Given the description of an element on the screen output the (x, y) to click on. 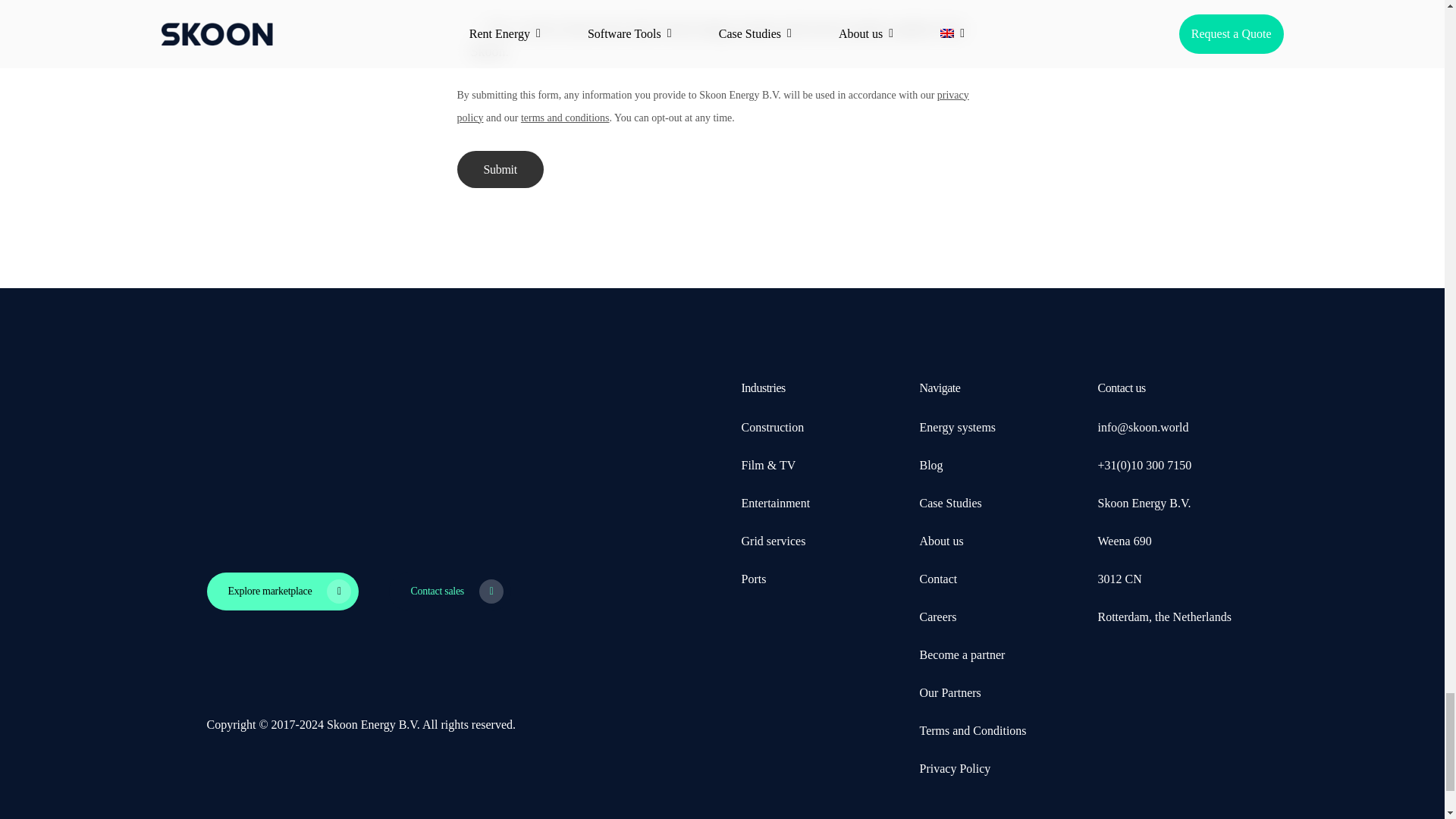
Explore marketplace (282, 591)
Submit (500, 169)
Submit (500, 169)
terms and conditions (565, 117)
Contact sales (449, 591)
privacy policy (712, 106)
